Given the description of an element on the screen output the (x, y) to click on. 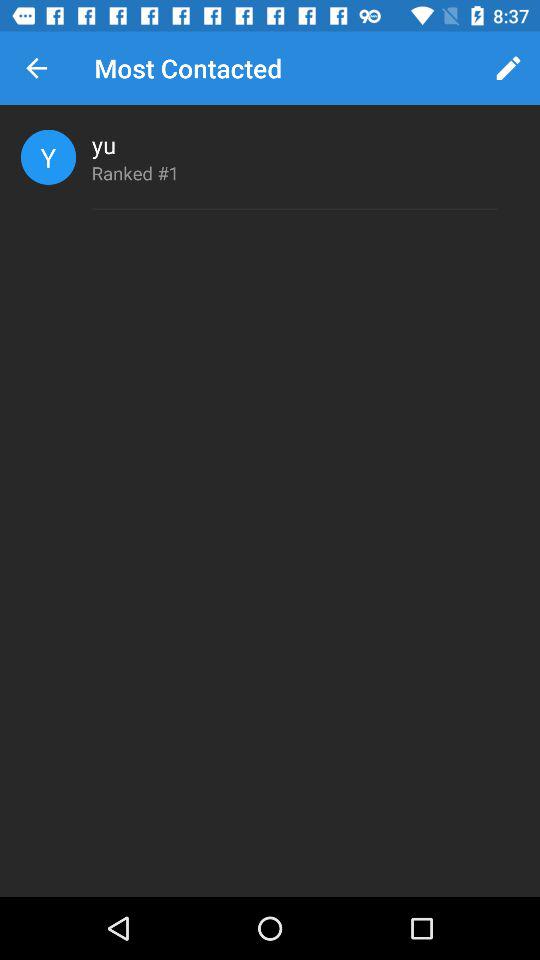
turn off the item to the left of yu item (48, 156)
